Given the description of an element on the screen output the (x, y) to click on. 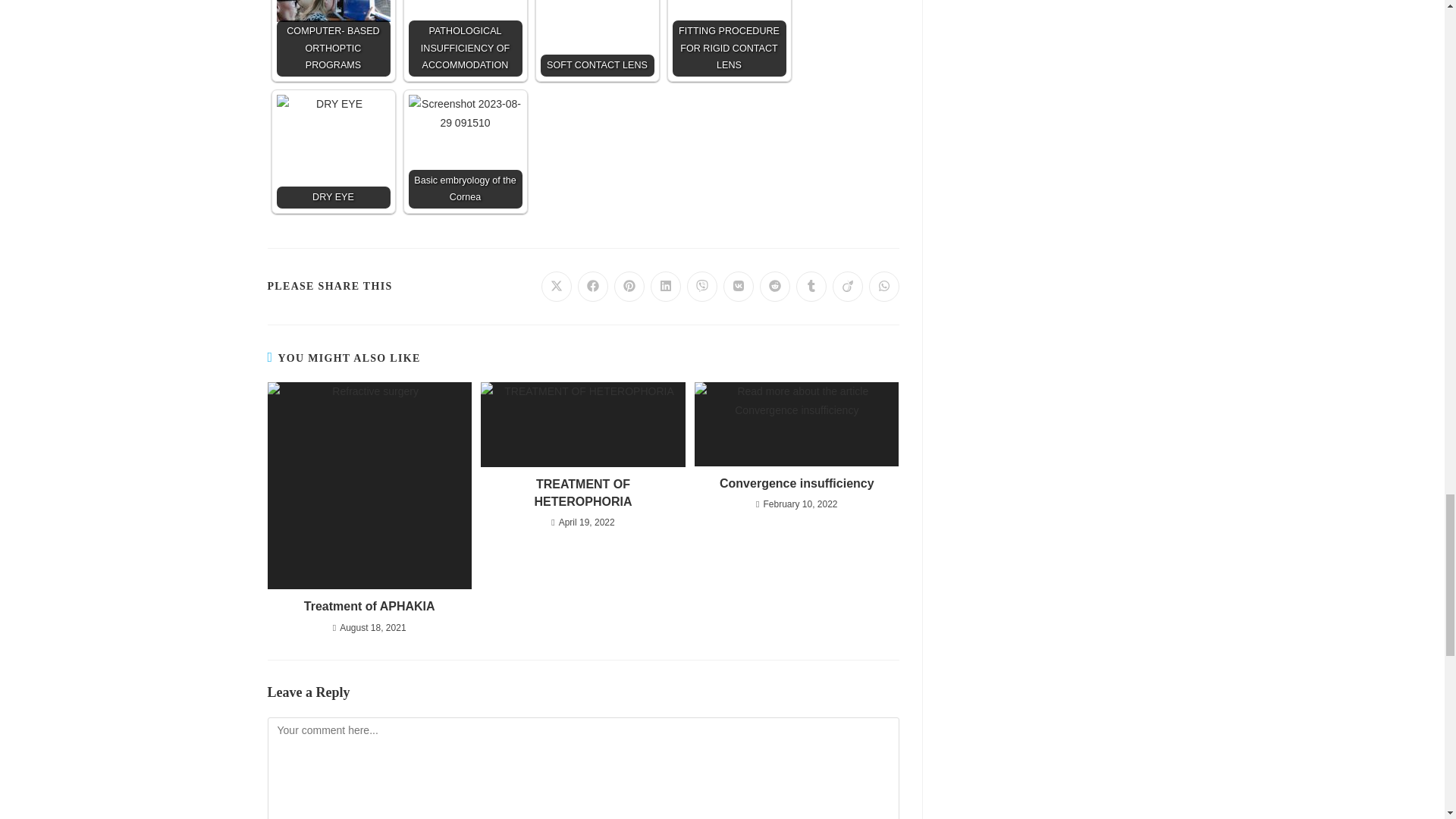
COMPUTER- BASED ORTHOPTIC PROGRAMS (333, 38)
Basic embryology of the Cornea (464, 151)
Opens in a new window (702, 286)
COMPUTER- BASED ORTHOPTIC PROGRAMS (333, 38)
Opens in a new window (738, 286)
Opens in a new window (629, 286)
DRY EYE (333, 151)
DRY EYE (333, 151)
Opens in a new window (593, 286)
Opens in a new window (665, 286)
